Given the description of an element on the screen output the (x, y) to click on. 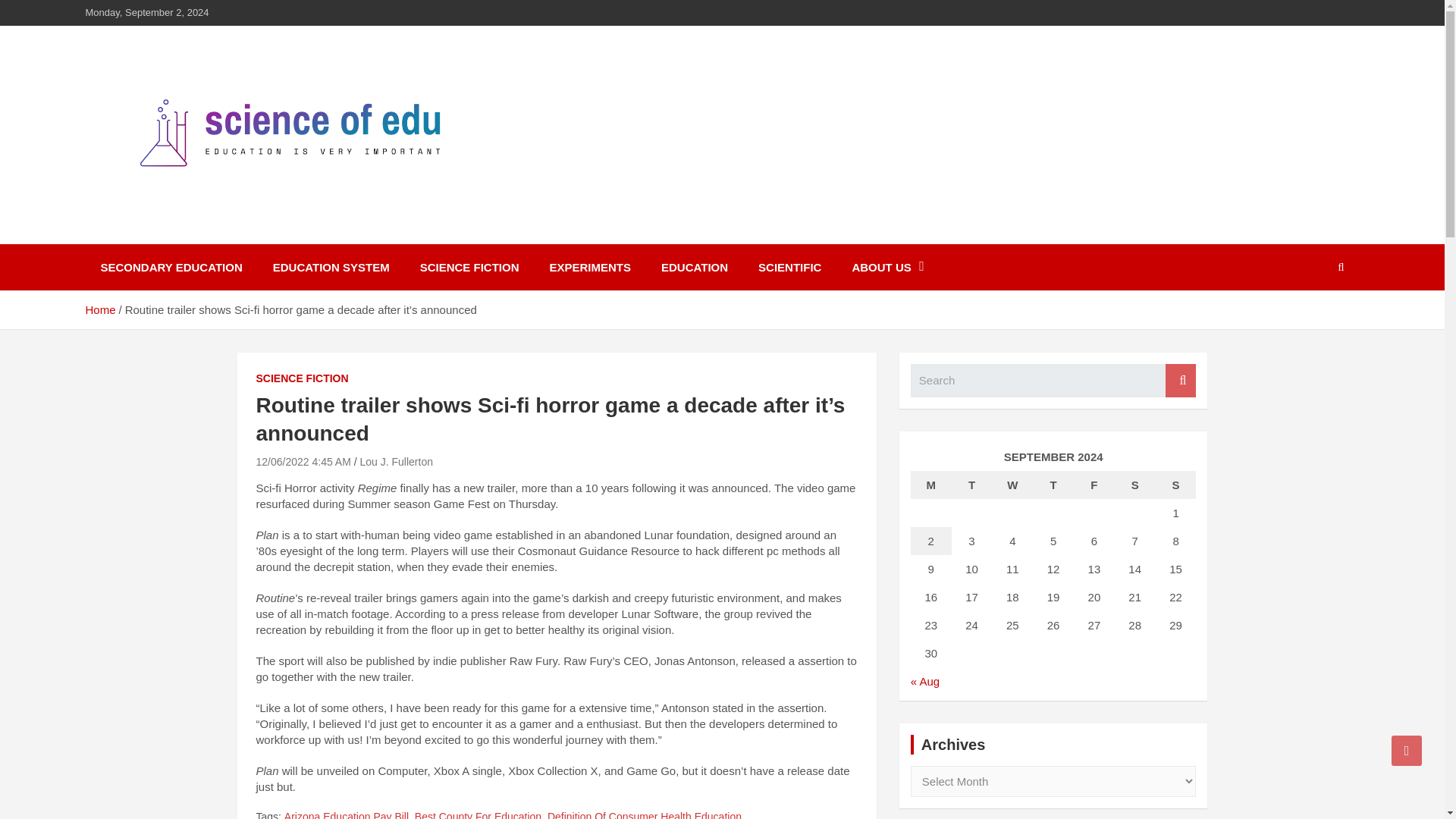
Definition Of Consumer Health Education (644, 814)
Saturday (1135, 484)
EDUCATION SYSTEM (330, 267)
SCIENCE FICTION (469, 267)
EDUCATION (694, 267)
Lou J. Fullerton (395, 461)
SCIENCE FICTION (302, 378)
Thursday (1053, 484)
Tuesday (972, 484)
Arizona Education Pay Bill (346, 814)
